Given the description of an element on the screen output the (x, y) to click on. 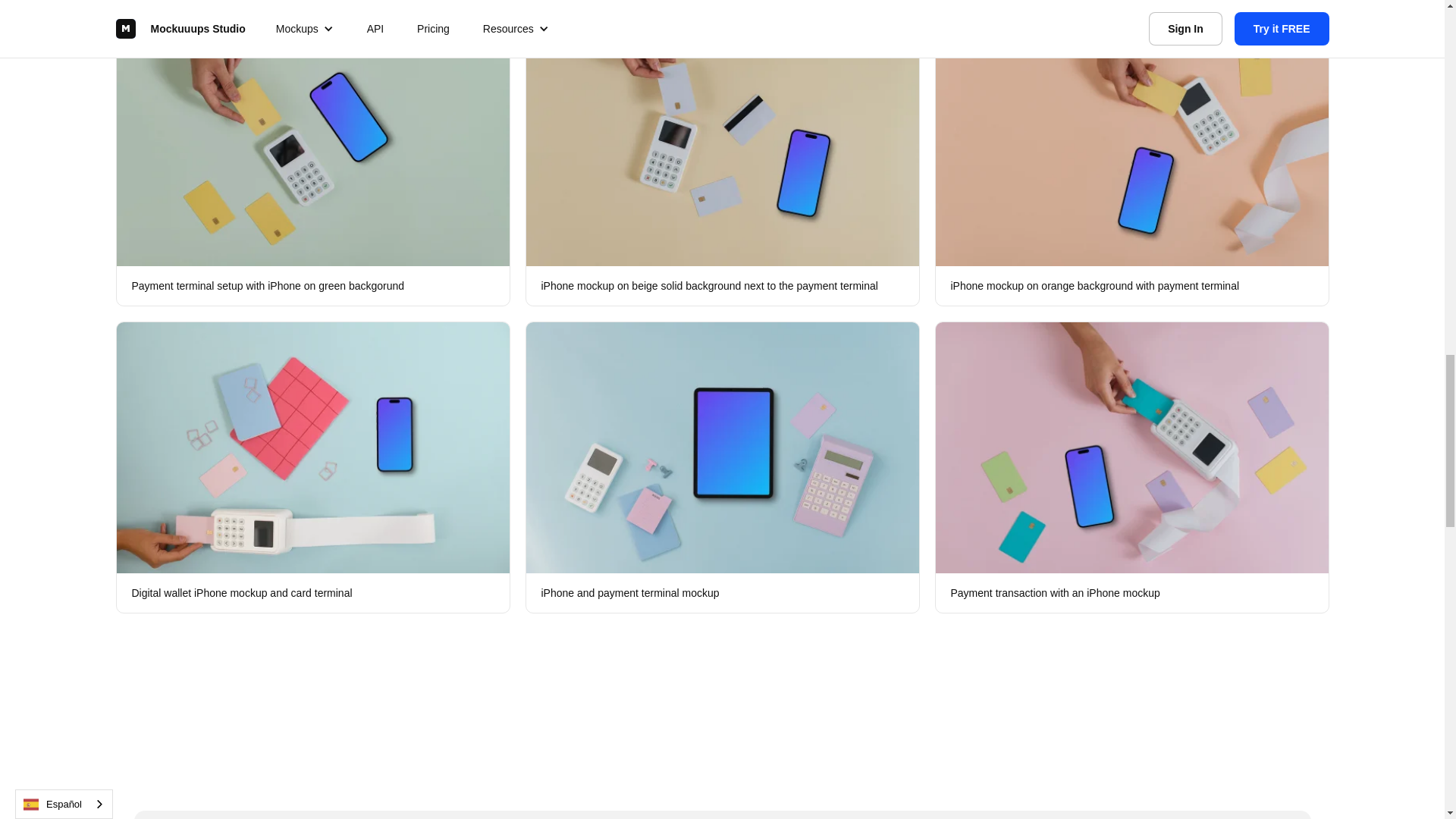
Payment terminal setup with iPhone on green backgorund (312, 159)
